Given the description of an element on the screen output the (x, y) to click on. 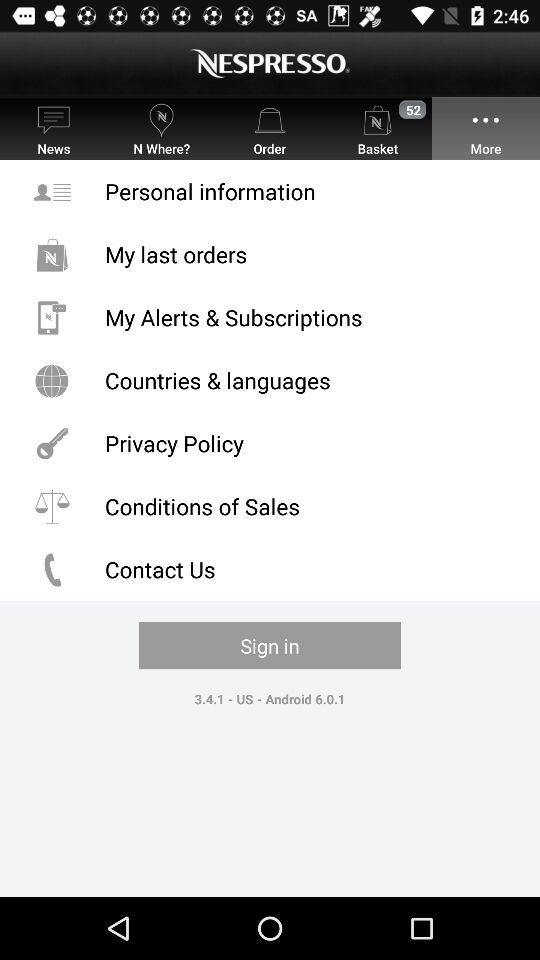
launch item below privacy policy (270, 506)
